Given the description of an element on the screen output the (x, y) to click on. 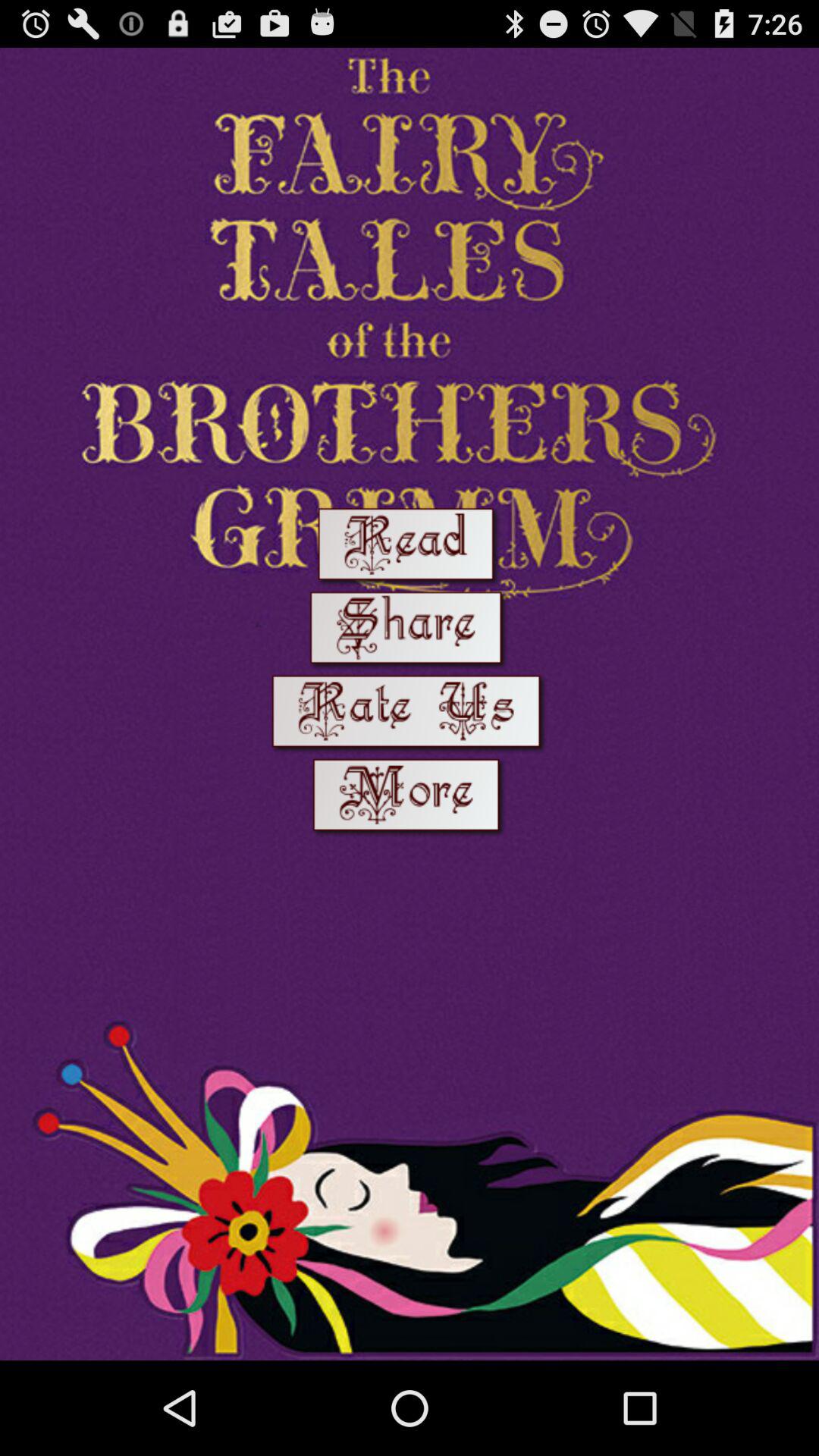
read book (408, 547)
